Given the description of an element on the screen output the (x, y) to click on. 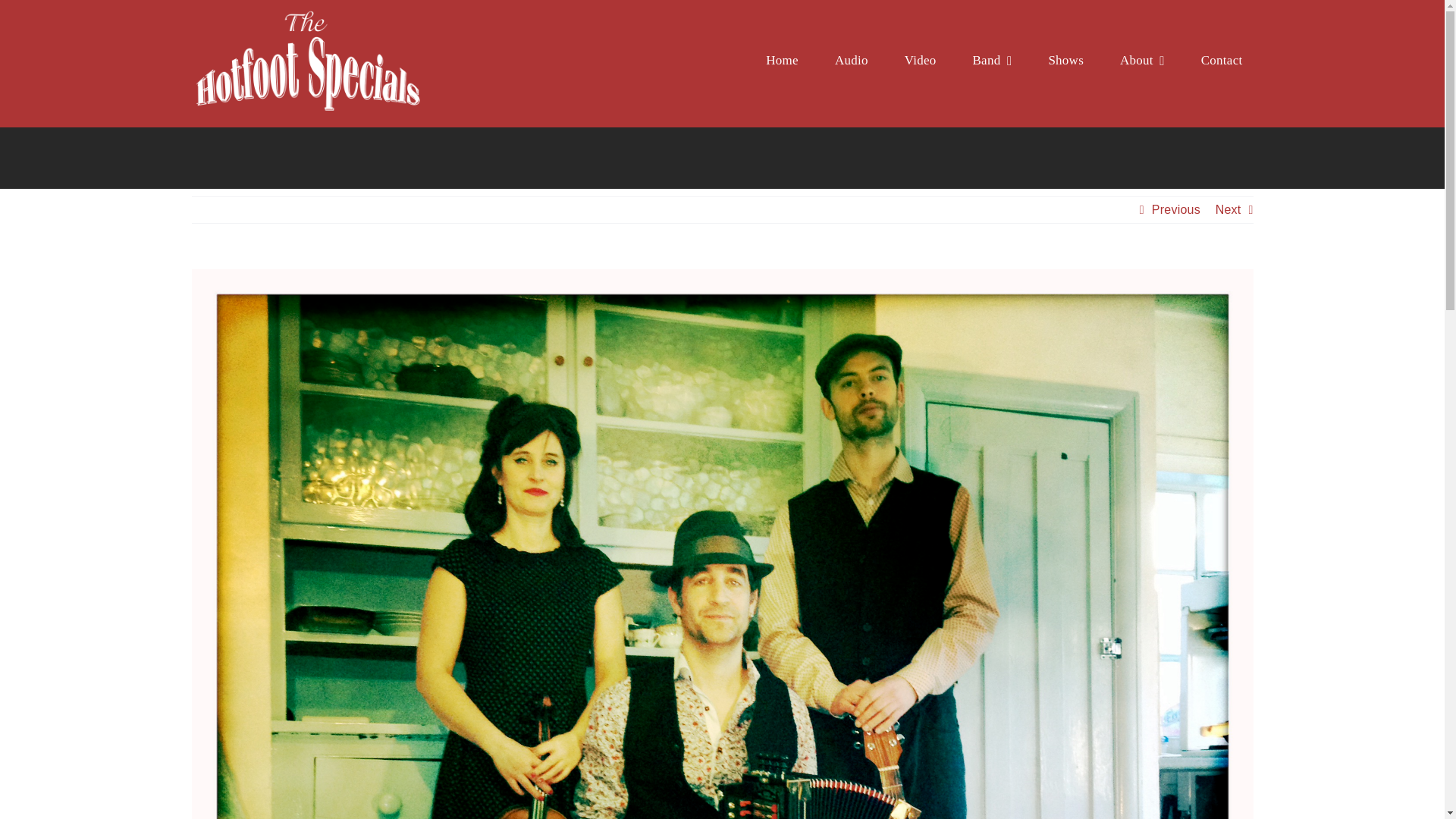
Video (920, 61)
Previous (1175, 209)
Home (781, 61)
Contact (1222, 61)
Shows (1065, 61)
Band (991, 61)
About (1141, 61)
Next (1228, 209)
Audio (850, 61)
